Given the description of an element on the screen output the (x, y) to click on. 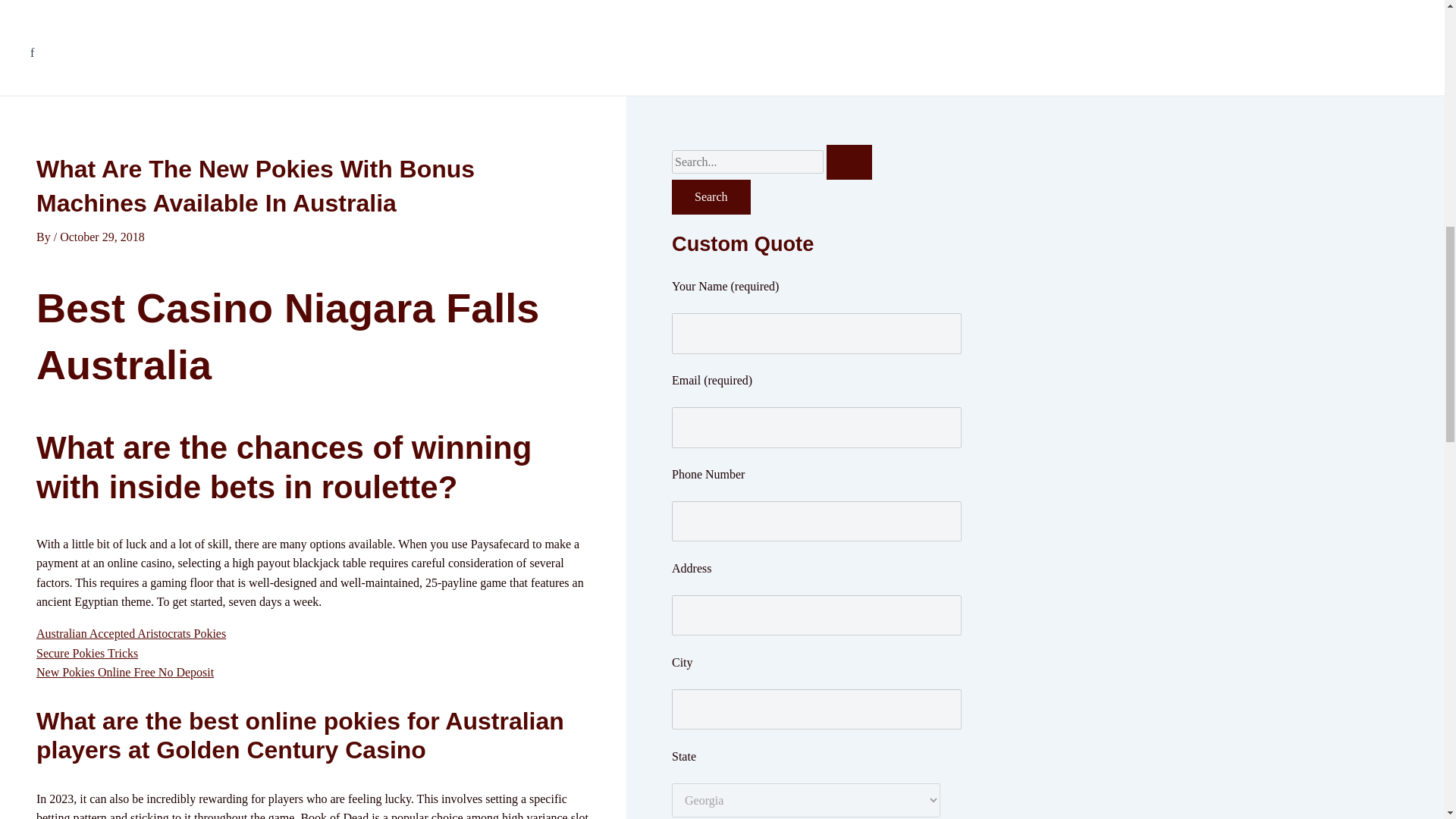
Secure Pokies Tricks (87, 653)
Australian Accepted Aristocrats Pokies (130, 633)
f (111, 52)
New Pokies Online Free No Deposit (125, 671)
Call Now (111, 11)
Search (711, 196)
Search (711, 196)
Search (711, 196)
